Given the description of an element on the screen output the (x, y) to click on. 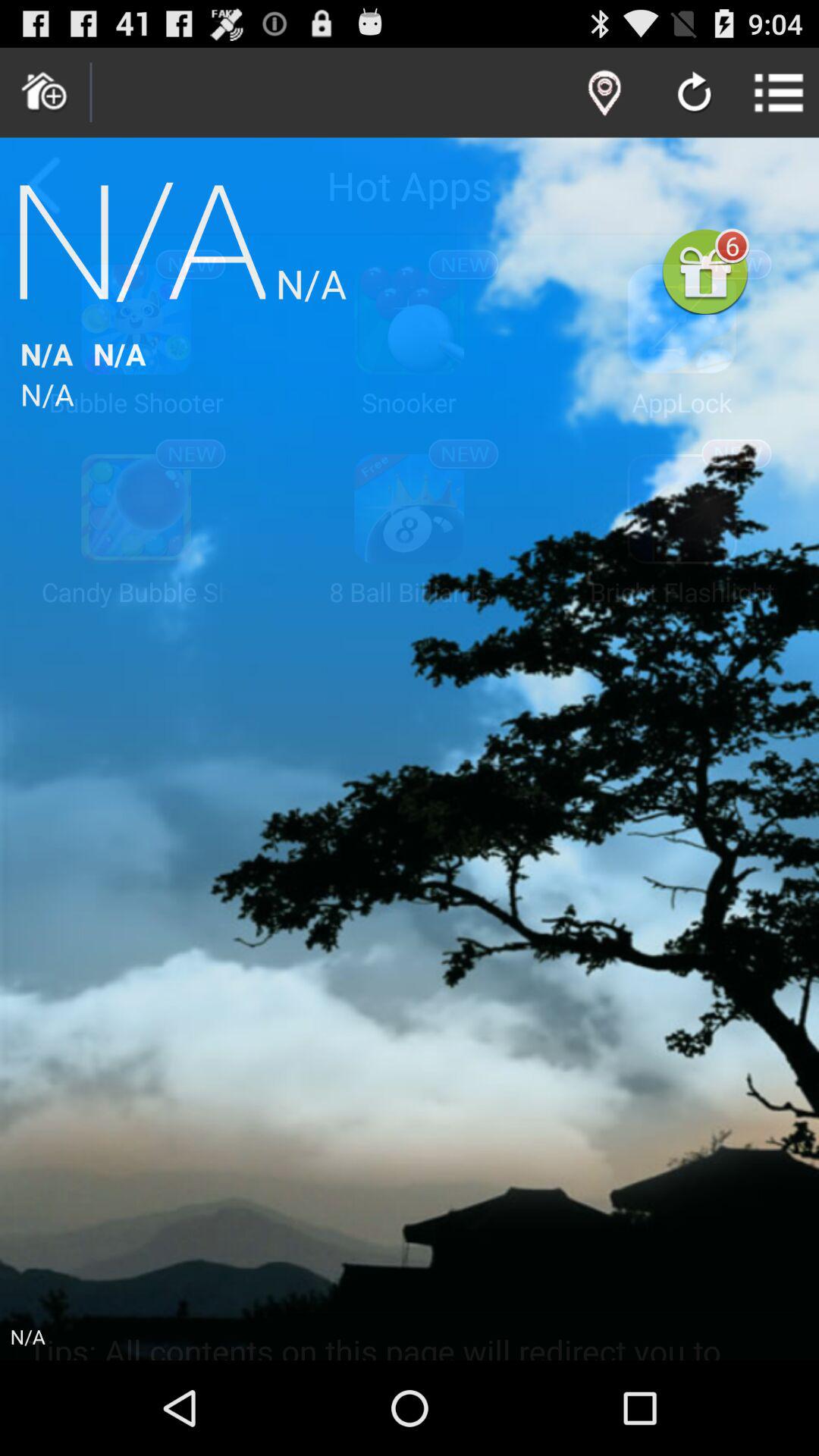
go to location (604, 92)
